Given the description of an element on the screen output the (x, y) to click on. 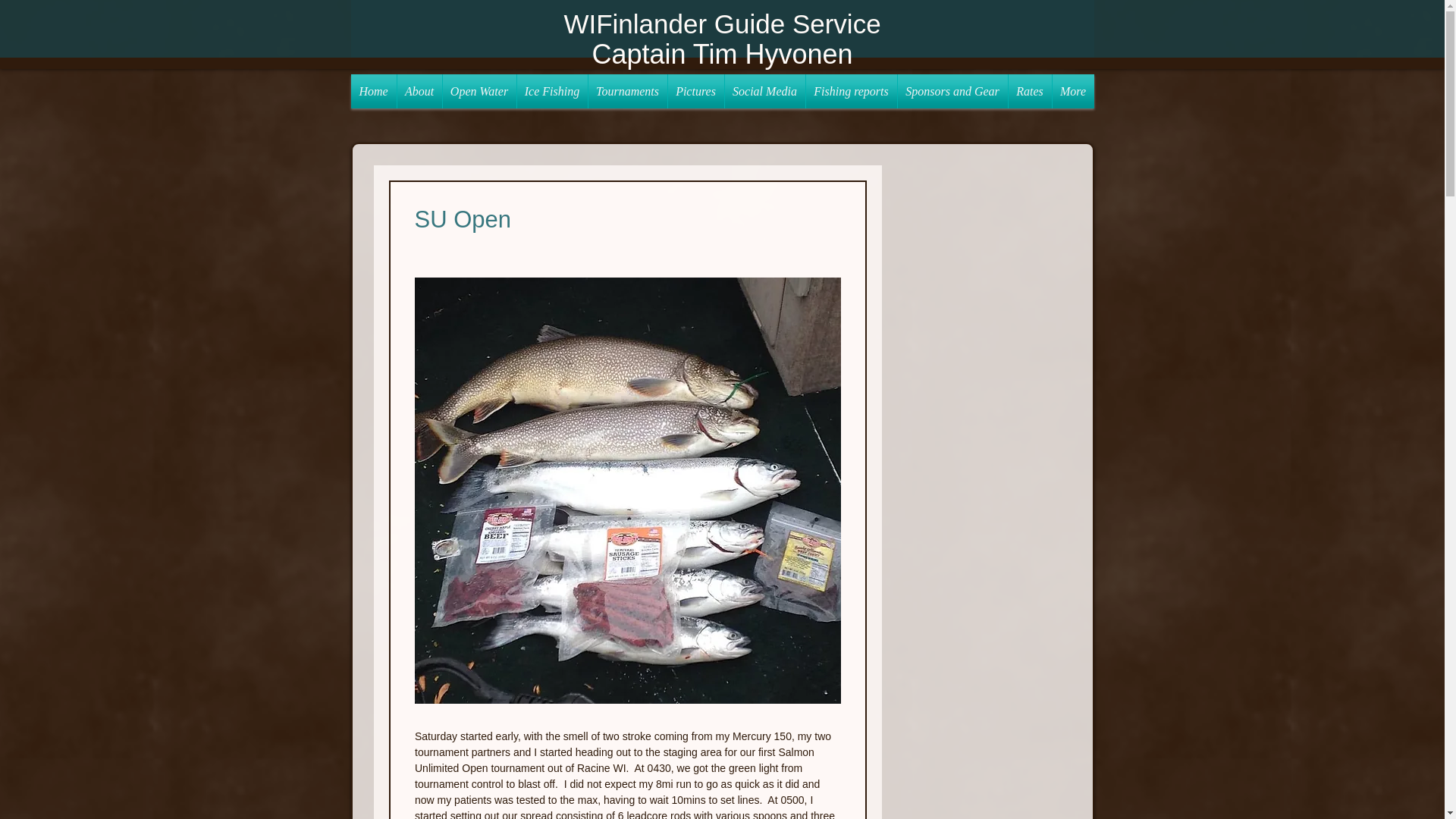
Social Media (765, 91)
Home (373, 91)
Fishing reports (850, 91)
Rates (1030, 91)
Ice Fishing (552, 91)
Open Water (479, 91)
Pictures (694, 91)
Sponsors and Gear (952, 91)
About (419, 91)
Tournaments (627, 91)
